Given the description of an element on the screen output the (x, y) to click on. 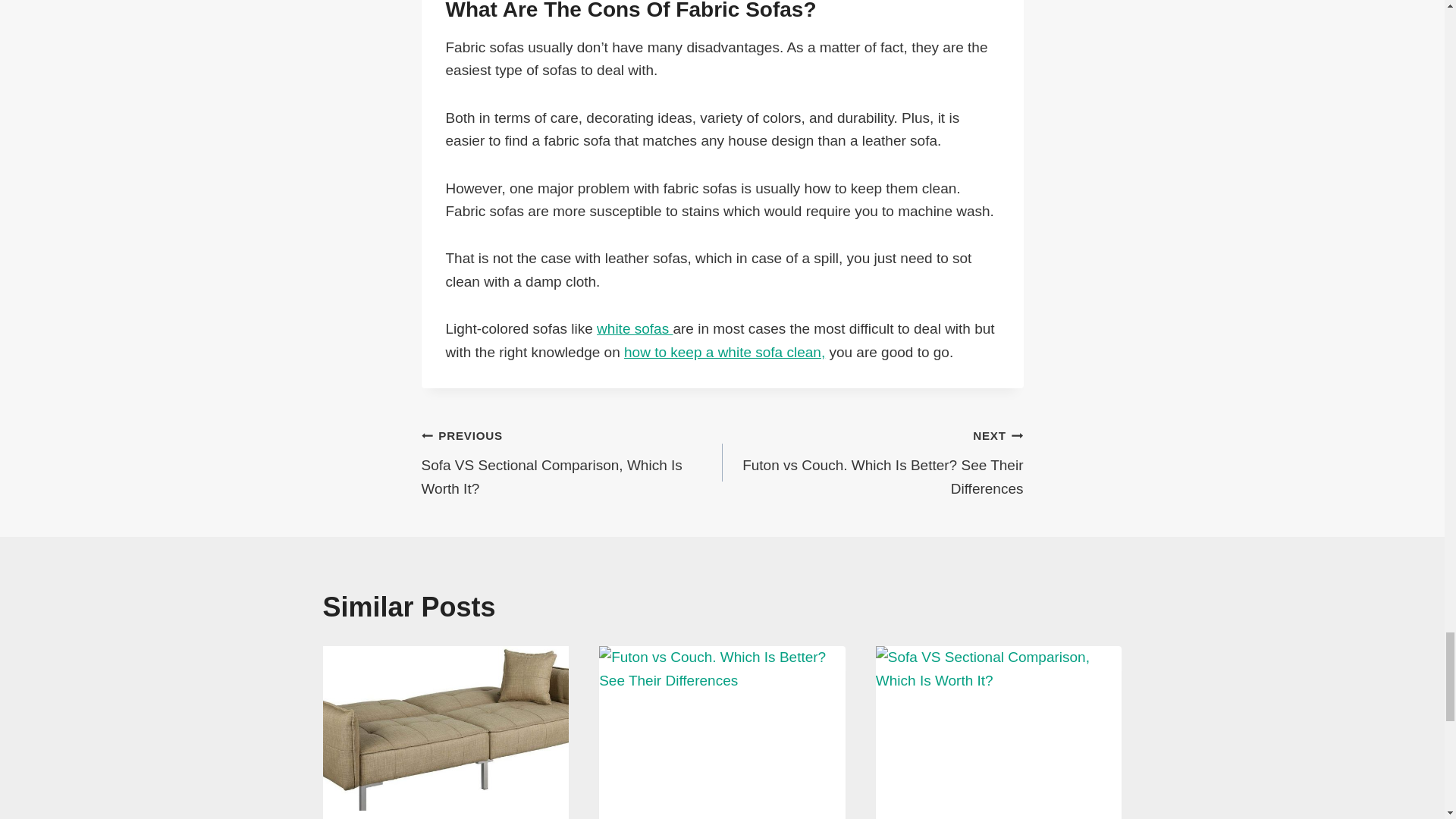
how to keep a white sofa clean, (872, 462)
white sofas (724, 351)
